Given the description of an element on the screen output the (x, y) to click on. 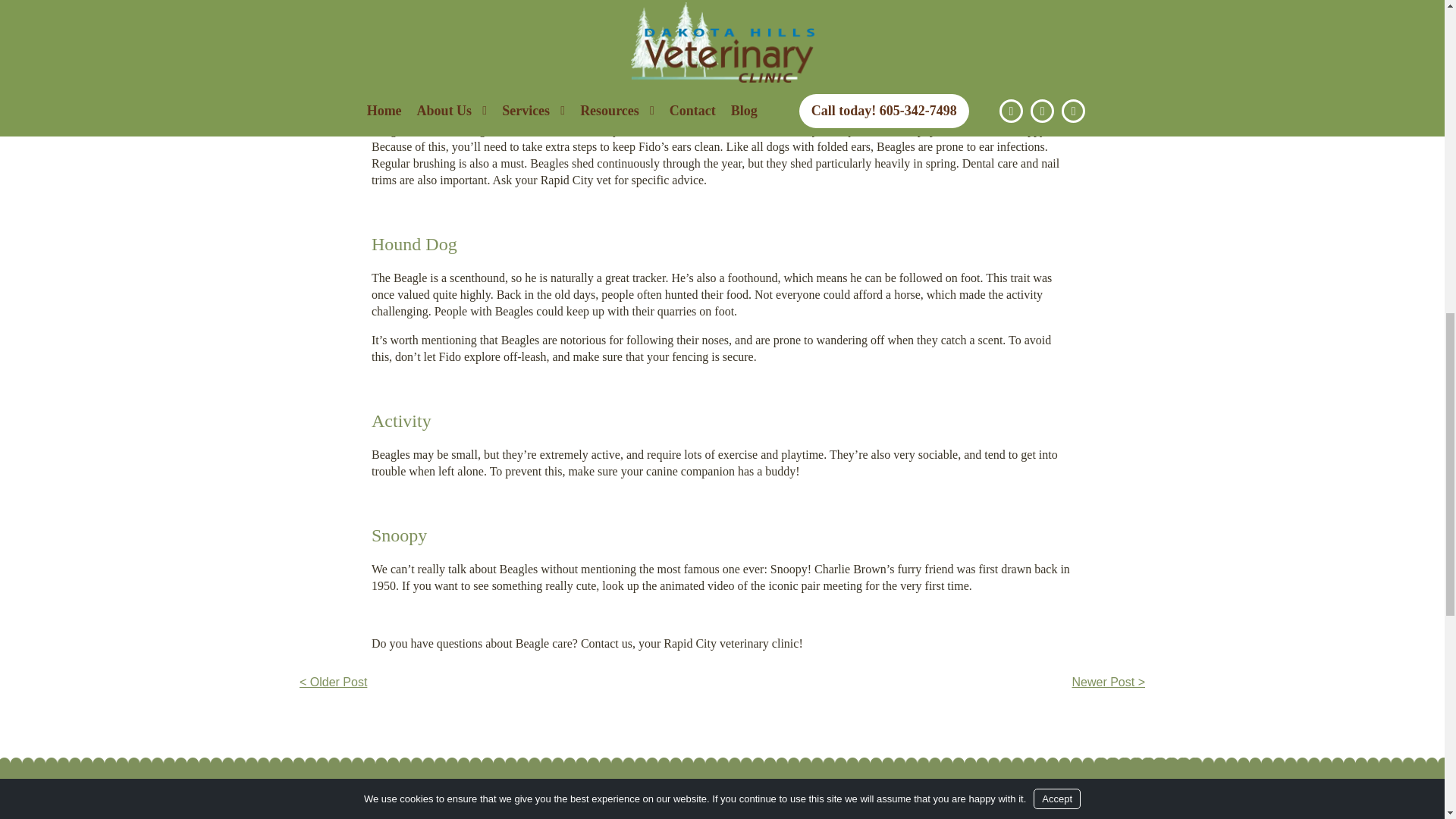
Google Map for  (1114, 812)
